Given the description of an element on the screen output the (x, y) to click on. 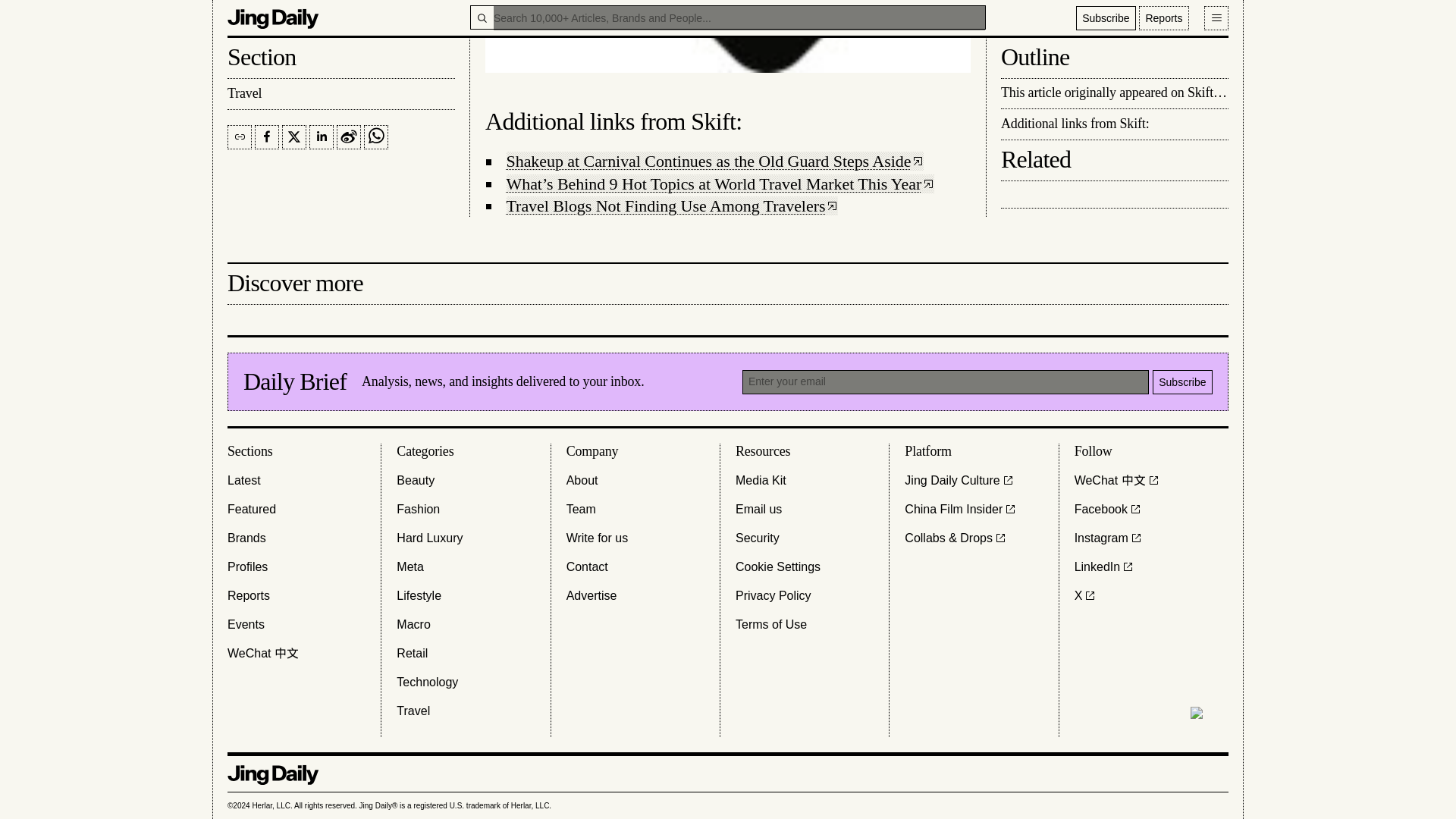
Profiles (247, 567)
Meta (409, 567)
Brands (246, 537)
Travel Blogs Not Finding Use Among Travelers (672, 205)
Events (245, 624)
Hard Luxury (429, 537)
Technology (427, 681)
Fashion (417, 509)
Beauty (414, 480)
Events (245, 624)
Lifestyle (418, 595)
Featured (251, 509)
Latest (243, 480)
Profiles (247, 567)
Hard Luxury (429, 537)
